Given the description of an element on the screen output the (x, y) to click on. 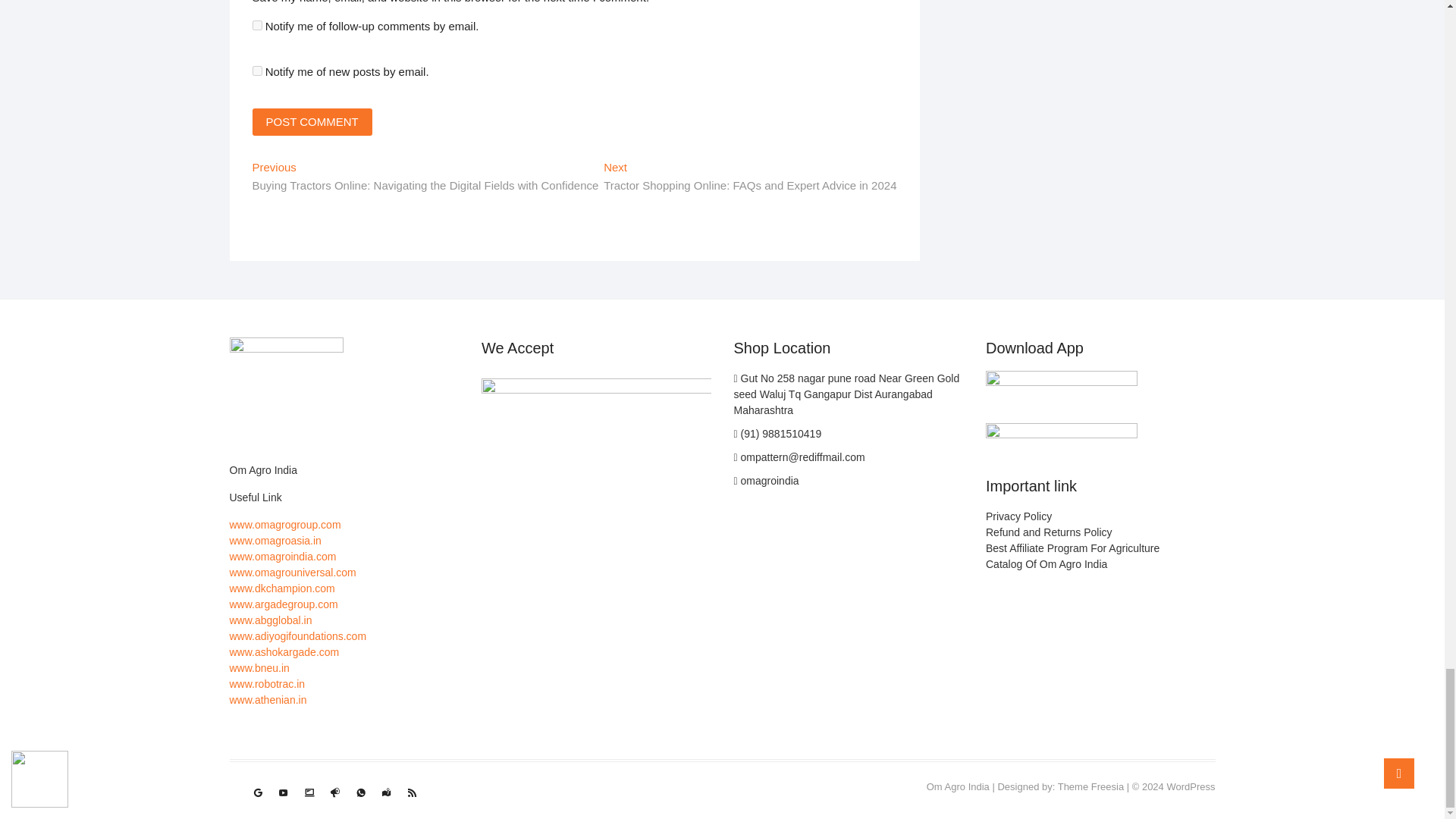
subscribe (256, 71)
subscribe (256, 25)
Post Comment (311, 121)
